Given the description of an element on the screen output the (x, y) to click on. 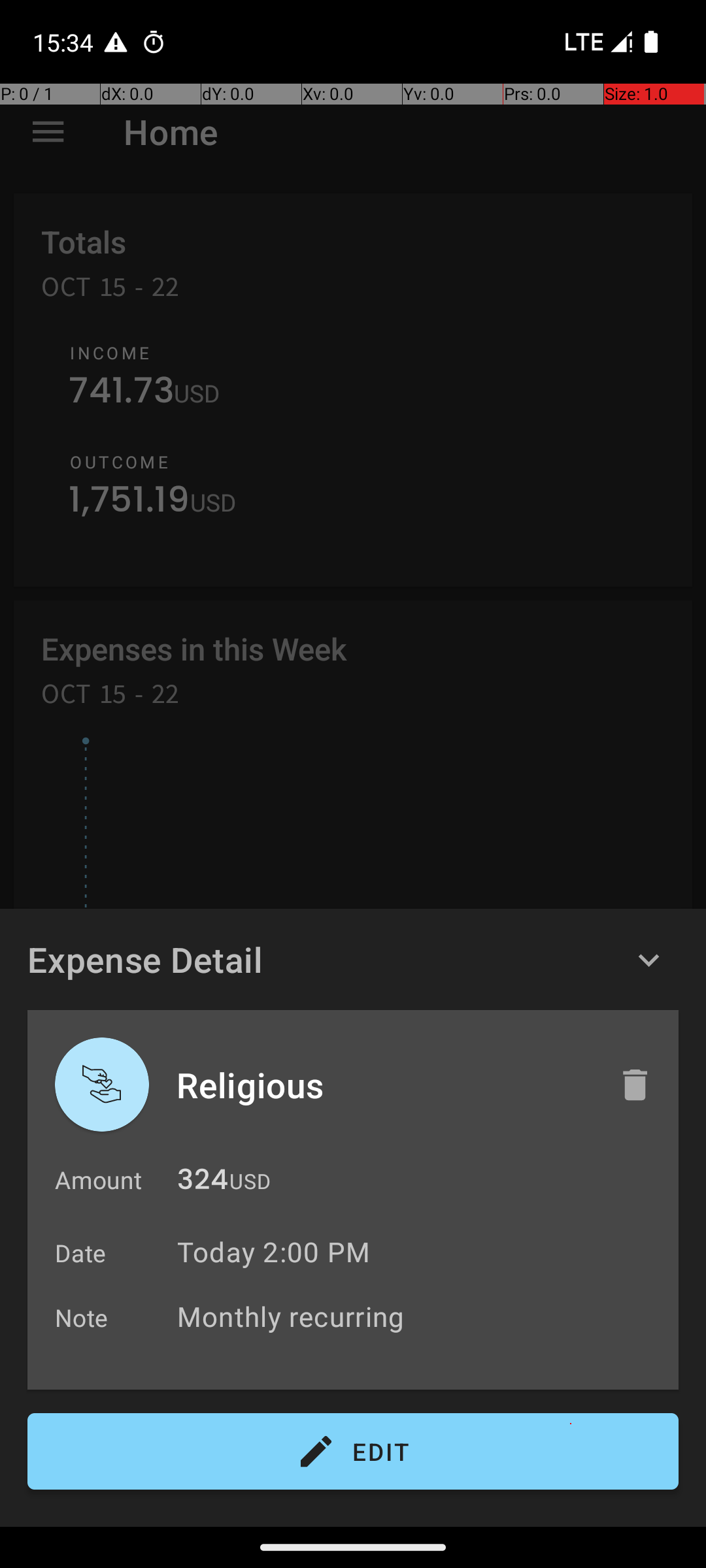
Religious Element type: android.widget.TextView (383, 1084)
324 Element type: android.widget.TextView (202, 1182)
Today 2:00 PM Element type: android.widget.TextView (273, 1251)
Monthly recurring Element type: android.widget.TextView (420, 1315)
